Given the description of an element on the screen output the (x, y) to click on. 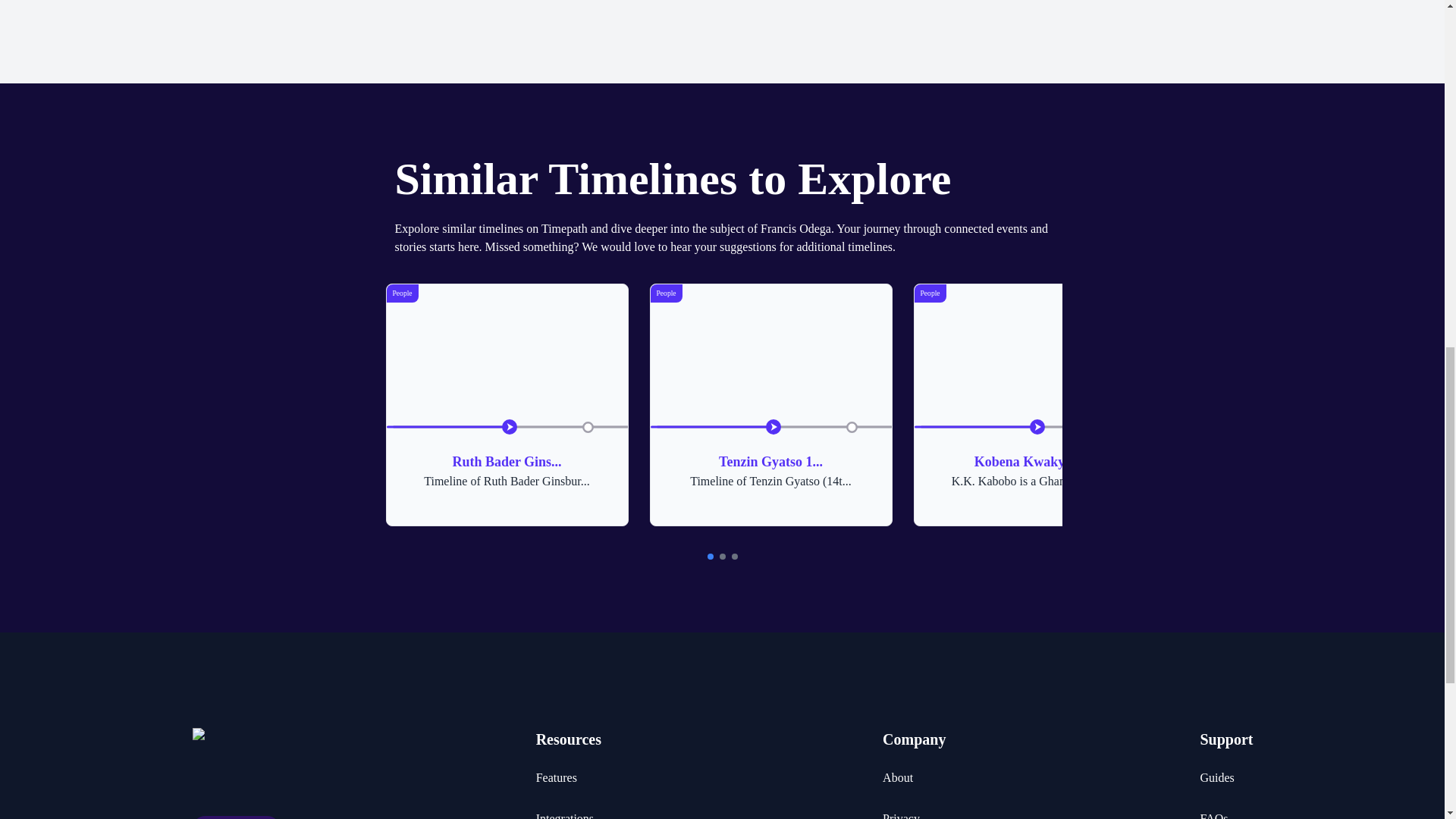
Guides (1216, 778)
Privacy (901, 814)
Features (555, 778)
FAQs (1213, 814)
Support (507, 404)
Integrations (1225, 739)
About (564, 814)
